Given the description of an element on the screen output the (x, y) to click on. 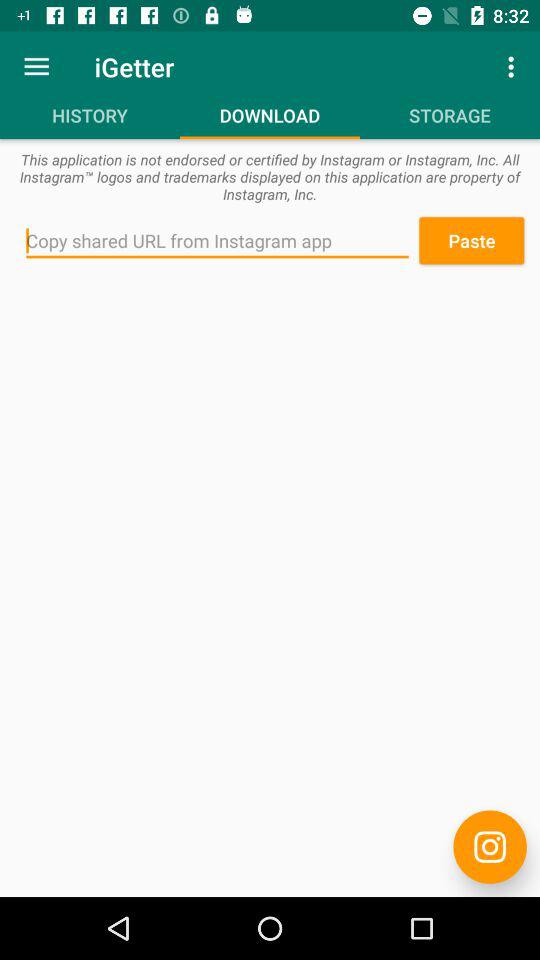
open icon below the this application is icon (217, 241)
